Given the description of an element on the screen output the (x, y) to click on. 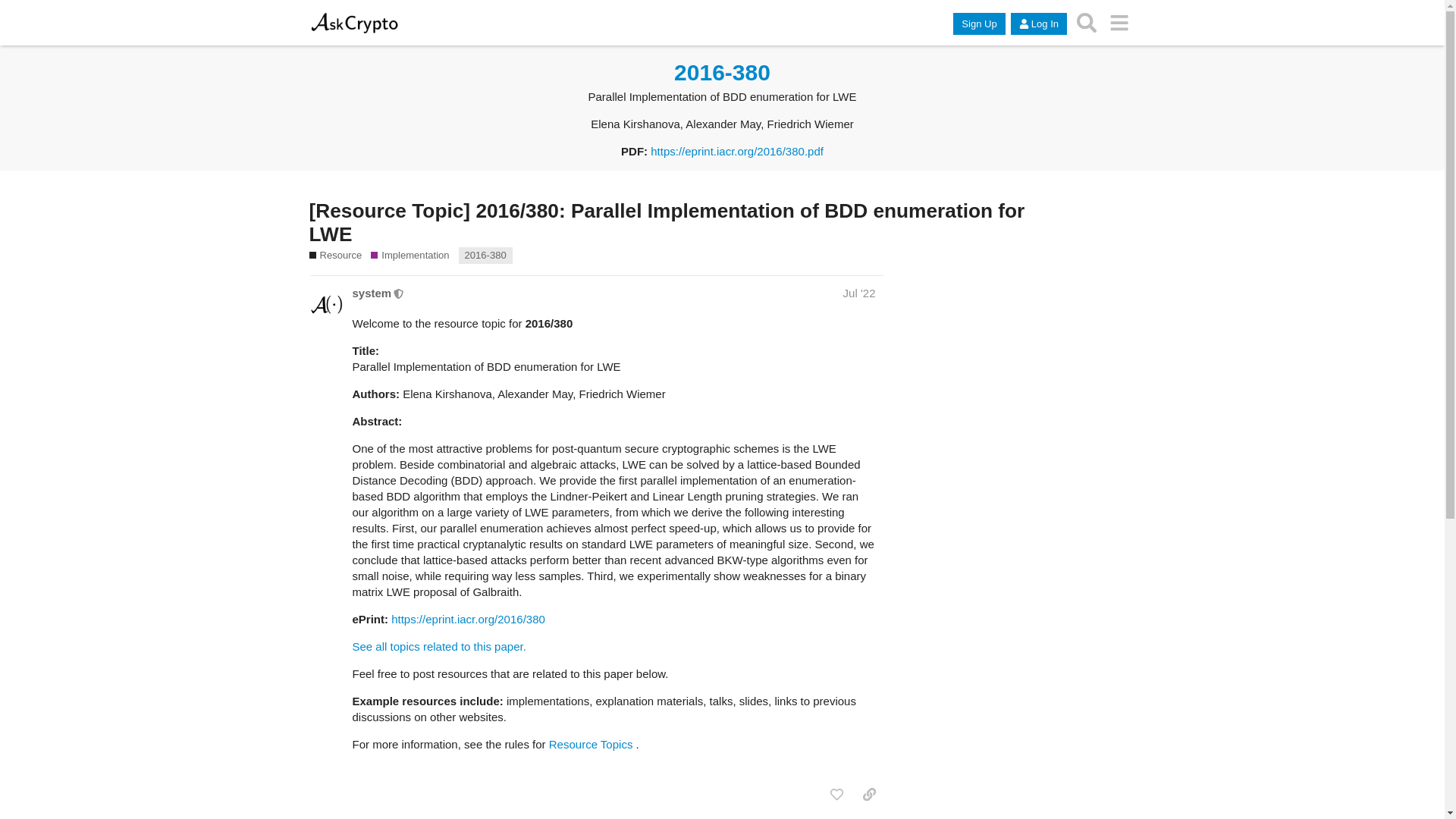
Search (1086, 22)
like this post (836, 794)
Jul '22 (859, 292)
Post date (859, 292)
menu (1119, 22)
Parallel Implementation of BDD enumeration for LWE (485, 255)
system (371, 293)
Sign Up (978, 24)
2016-380 (485, 255)
Resource Topics (590, 744)
Log In (1038, 24)
Implementation (409, 255)
Resource (335, 255)
See all topics related to this paper. (438, 645)
